Given the description of an element on the screen output the (x, y) to click on. 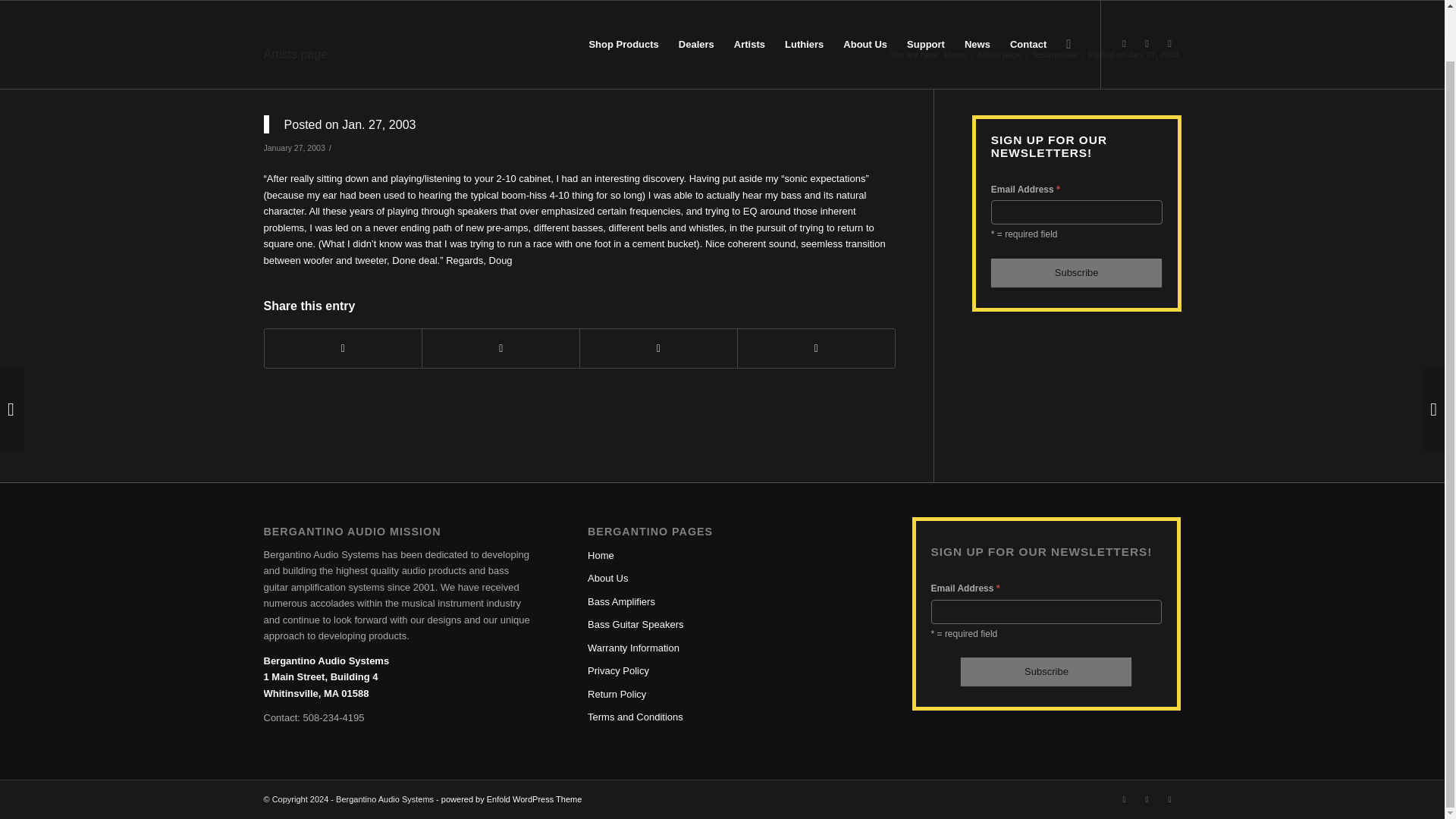
Dealers (695, 16)
Permanent Link: Artists page (295, 53)
Bergantino Audio Systems (955, 54)
Artists (748, 16)
Luthiers (803, 16)
Artists page (999, 54)
About Us (864, 16)
Shop Products (623, 16)
Support (925, 16)
